Given the description of an element on the screen output the (x, y) to click on. 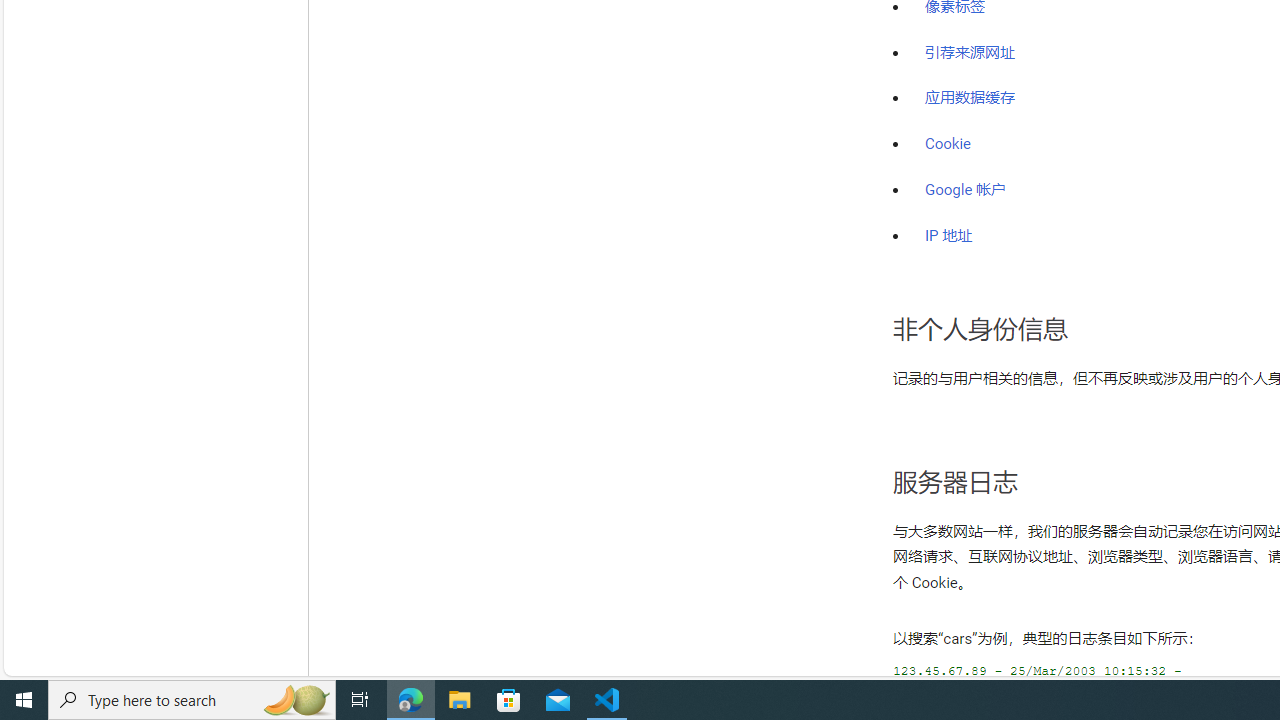
Cookie (948, 144)
